Given the description of an element on the screen output the (x, y) to click on. 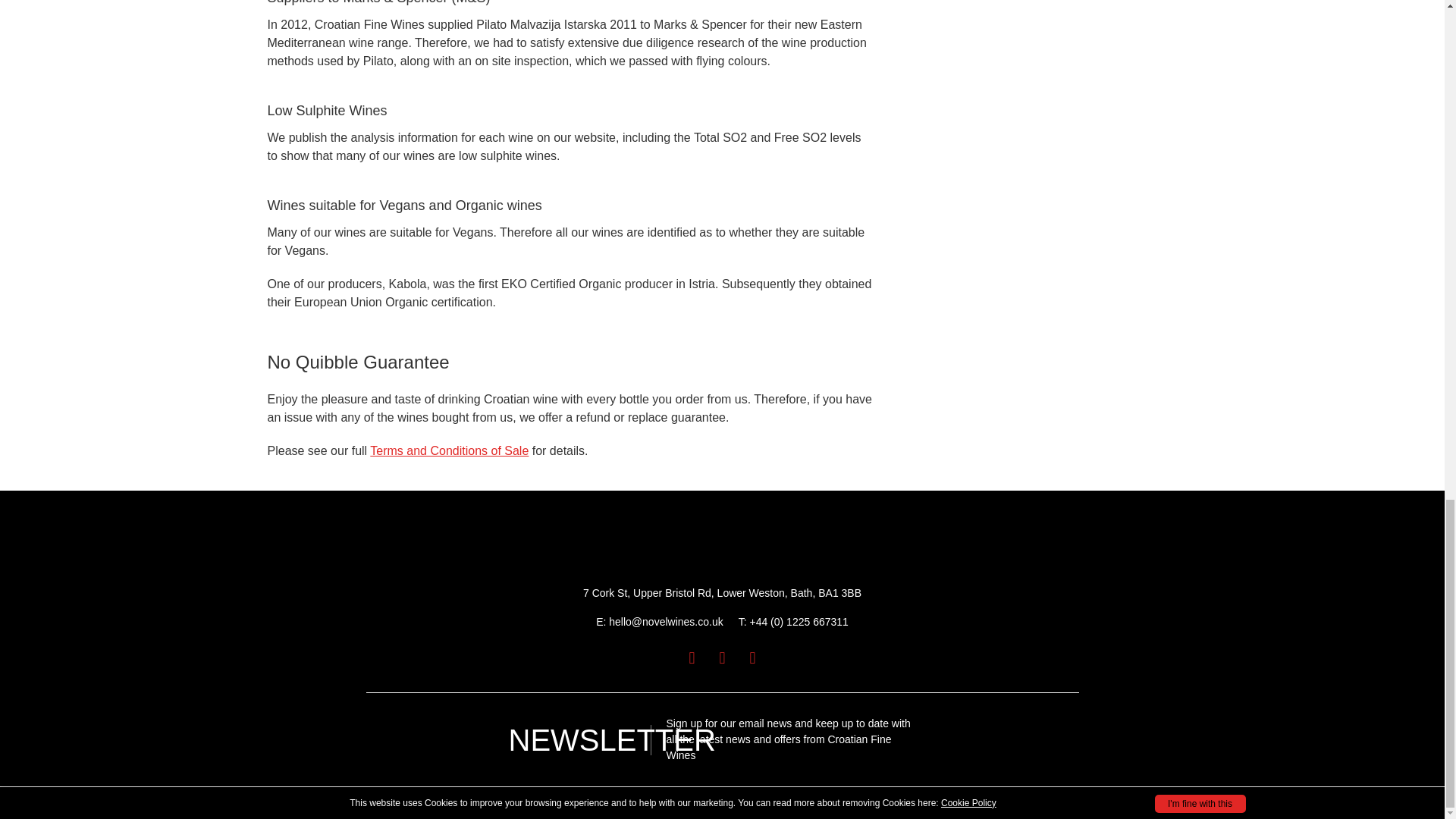
Terms and Conditions of Sale (448, 450)
LEGAL DECLARATIONS (516, 800)
PRIVACY POLICY (358, 800)
DELIVERY (430, 800)
GLOBAL RIVER (1199, 800)
